Given the description of an element on the screen output the (x, y) to click on. 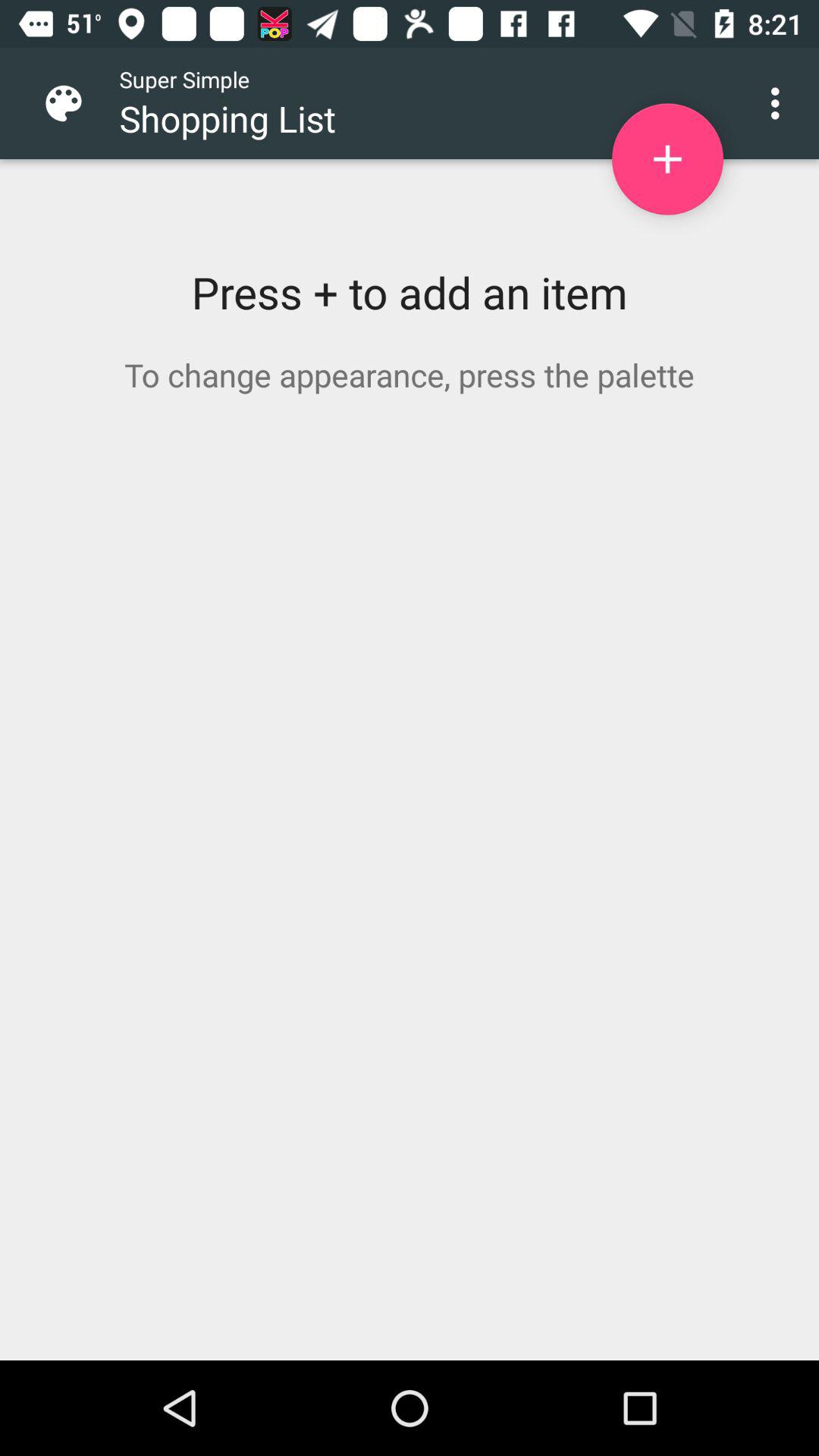
add an item (667, 158)
